Given the description of an element on the screen output the (x, y) to click on. 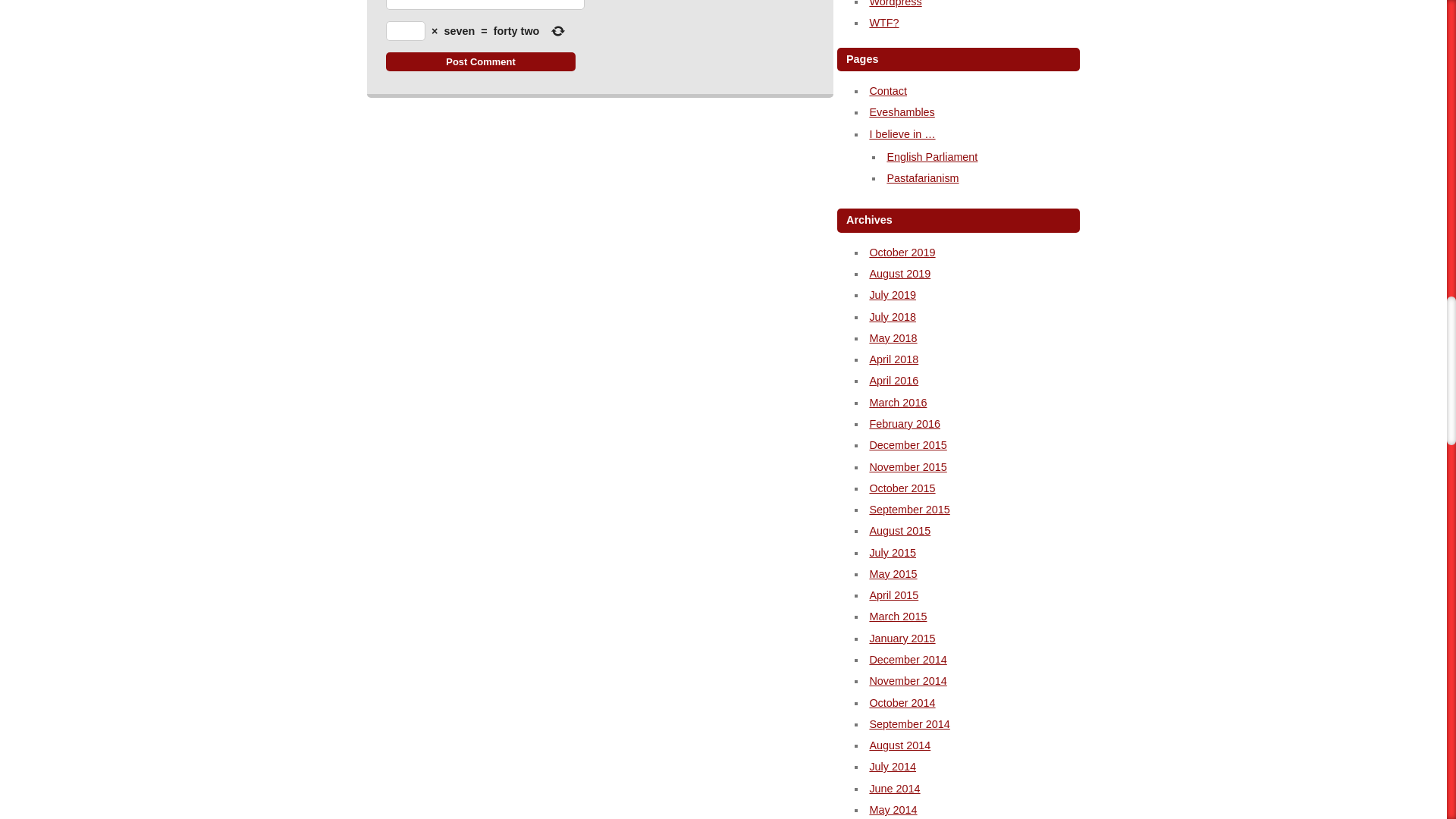
Post Comment (480, 61)
Post Comment (480, 61)
